Given the description of an element on the screen output the (x, y) to click on. 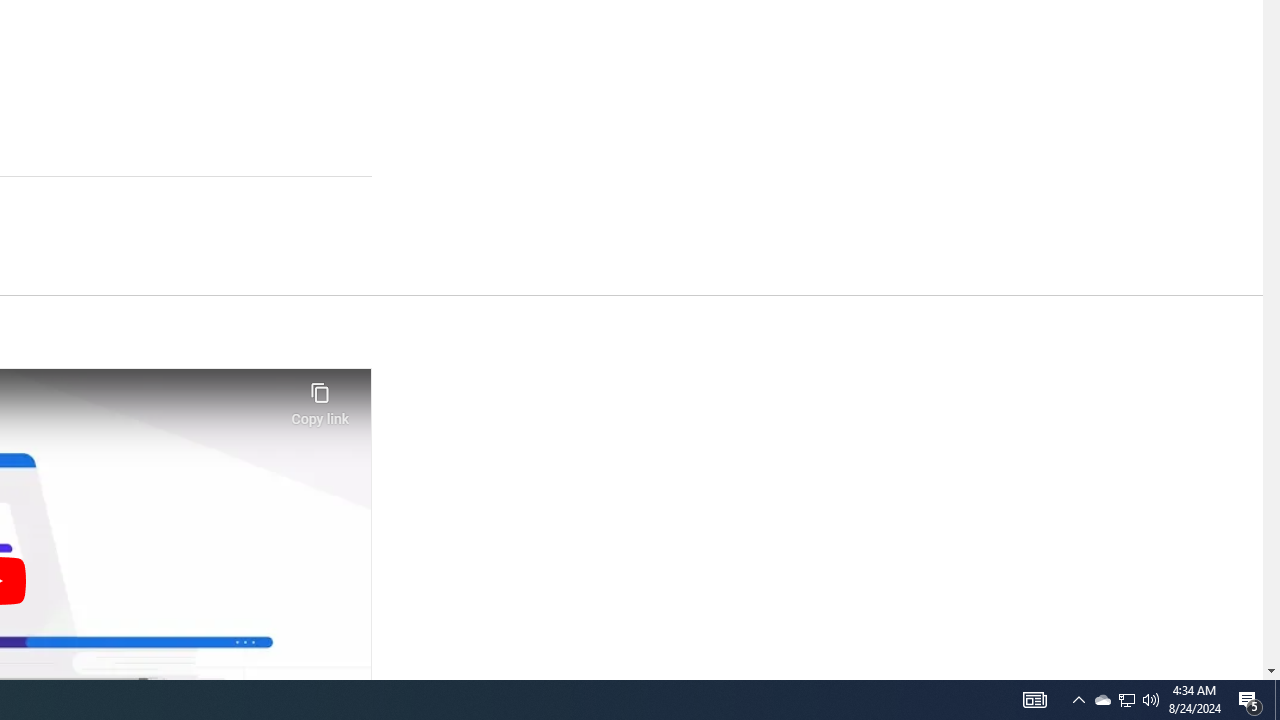
Copy link (319, 398)
